Given the description of an element on the screen output the (x, y) to click on. 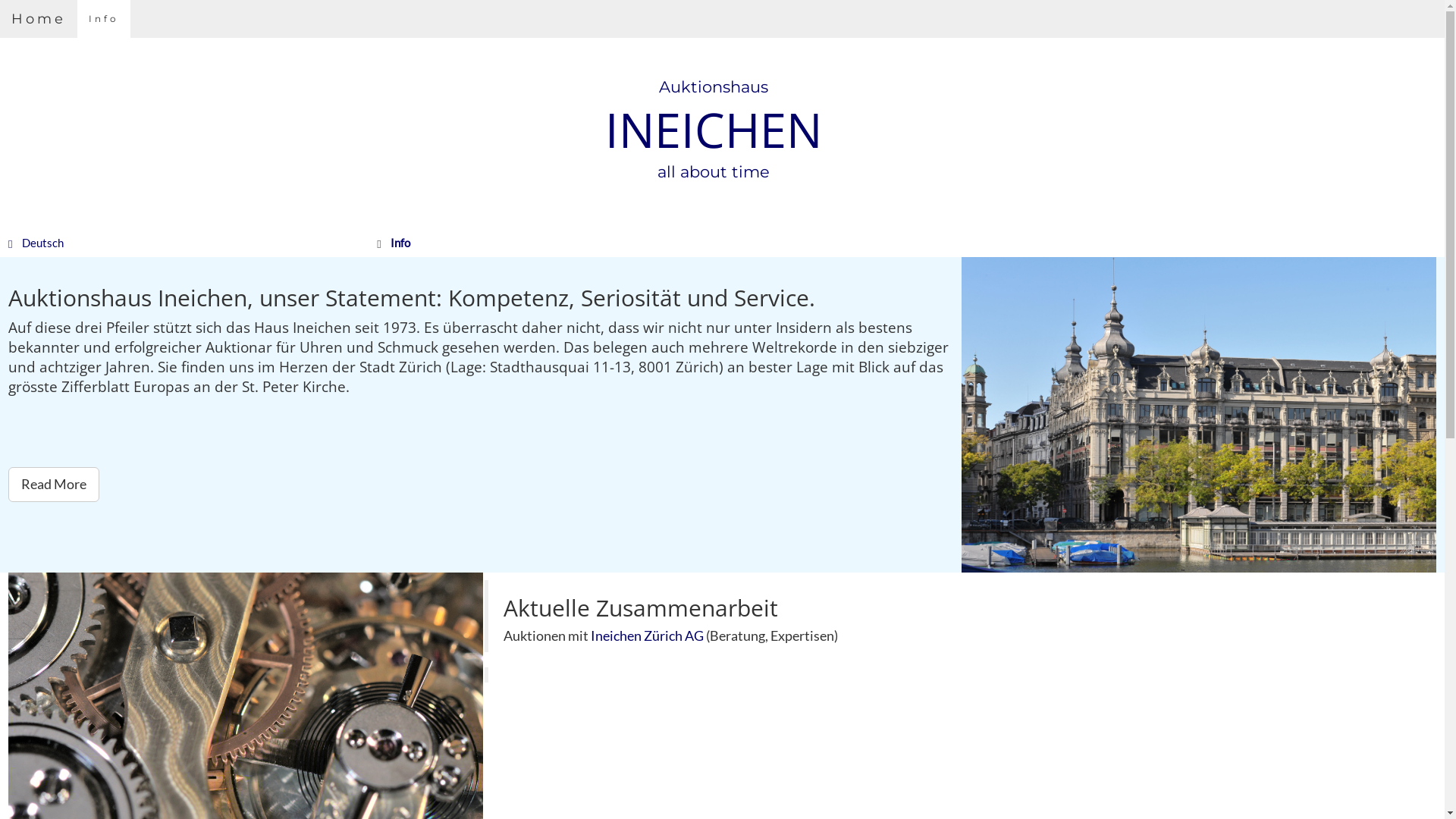
Auktionshaus
INEICHEN
all about time Element type: text (712, 129)
Info Element type: text (400, 242)
Home Element type: text (38, 18)
Read More Element type: text (53, 484)
Info Element type: text (103, 18)
